Given the description of an element on the screen output the (x, y) to click on. 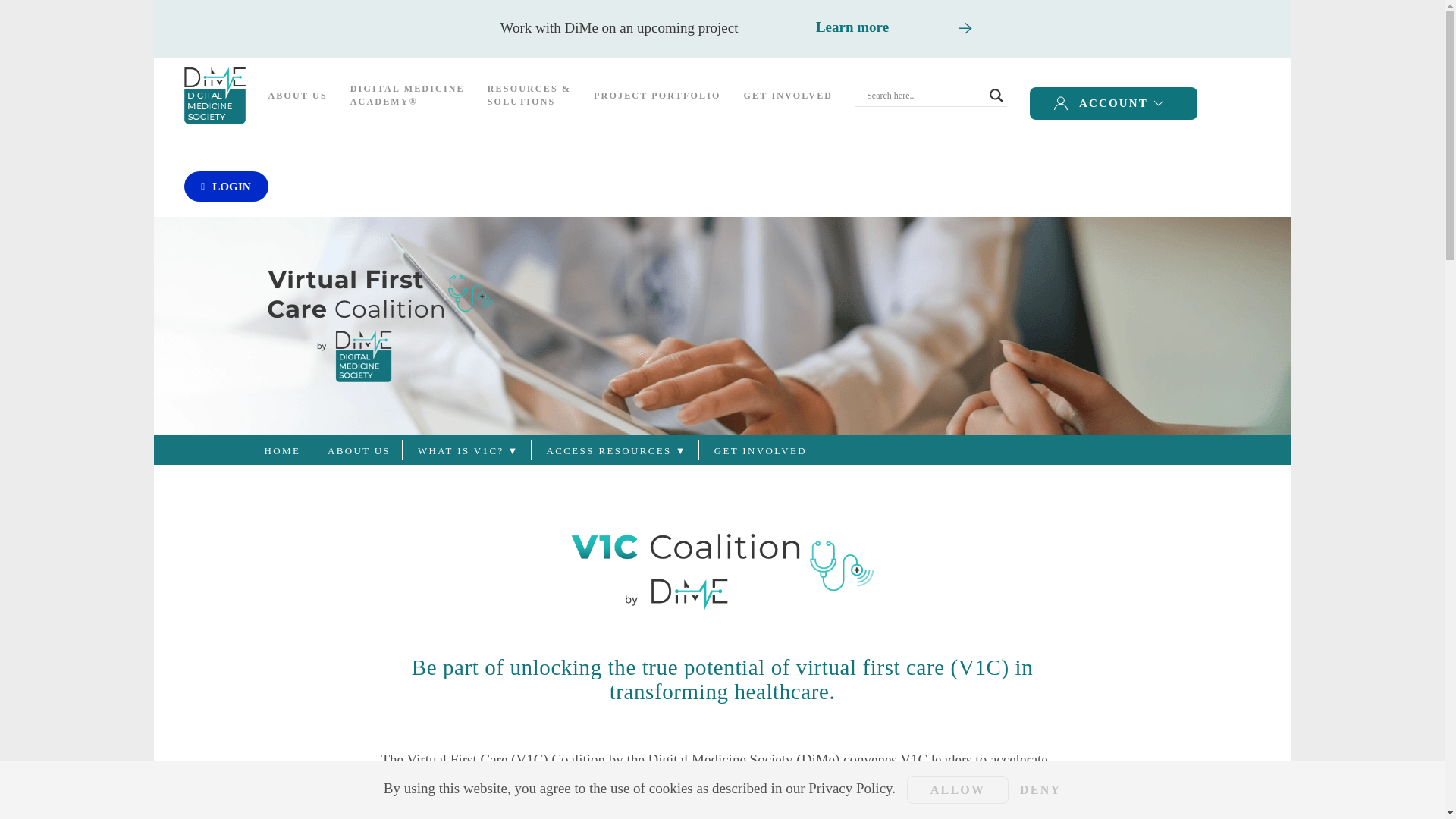
Learn more (851, 26)
ABOUT US (297, 95)
